Given the description of an element on the screen output the (x, y) to click on. 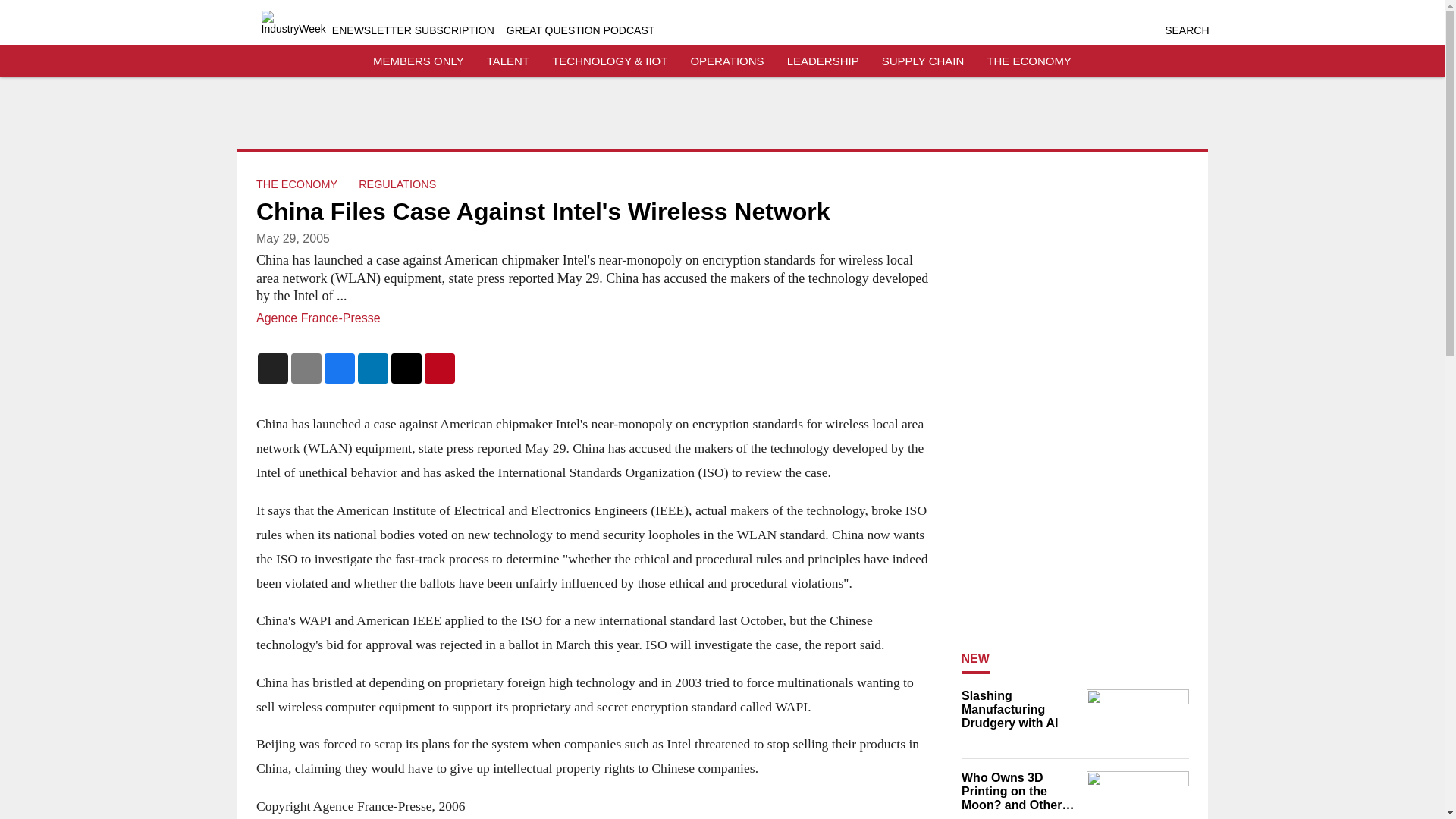
Agence France-Presse (318, 318)
SEARCH (1186, 30)
THE ECONOMY (1029, 60)
THE ECONOMY (296, 184)
TALENT (507, 60)
MEMBERS ONLY (418, 60)
ENEWSLETTER SUBSCRIPTION (413, 30)
Slashing Manufacturing Drudgery with AI (1019, 709)
OPERATIONS (726, 60)
GREAT QUESTION PODCAST (580, 30)
